Given the description of an element on the screen output the (x, y) to click on. 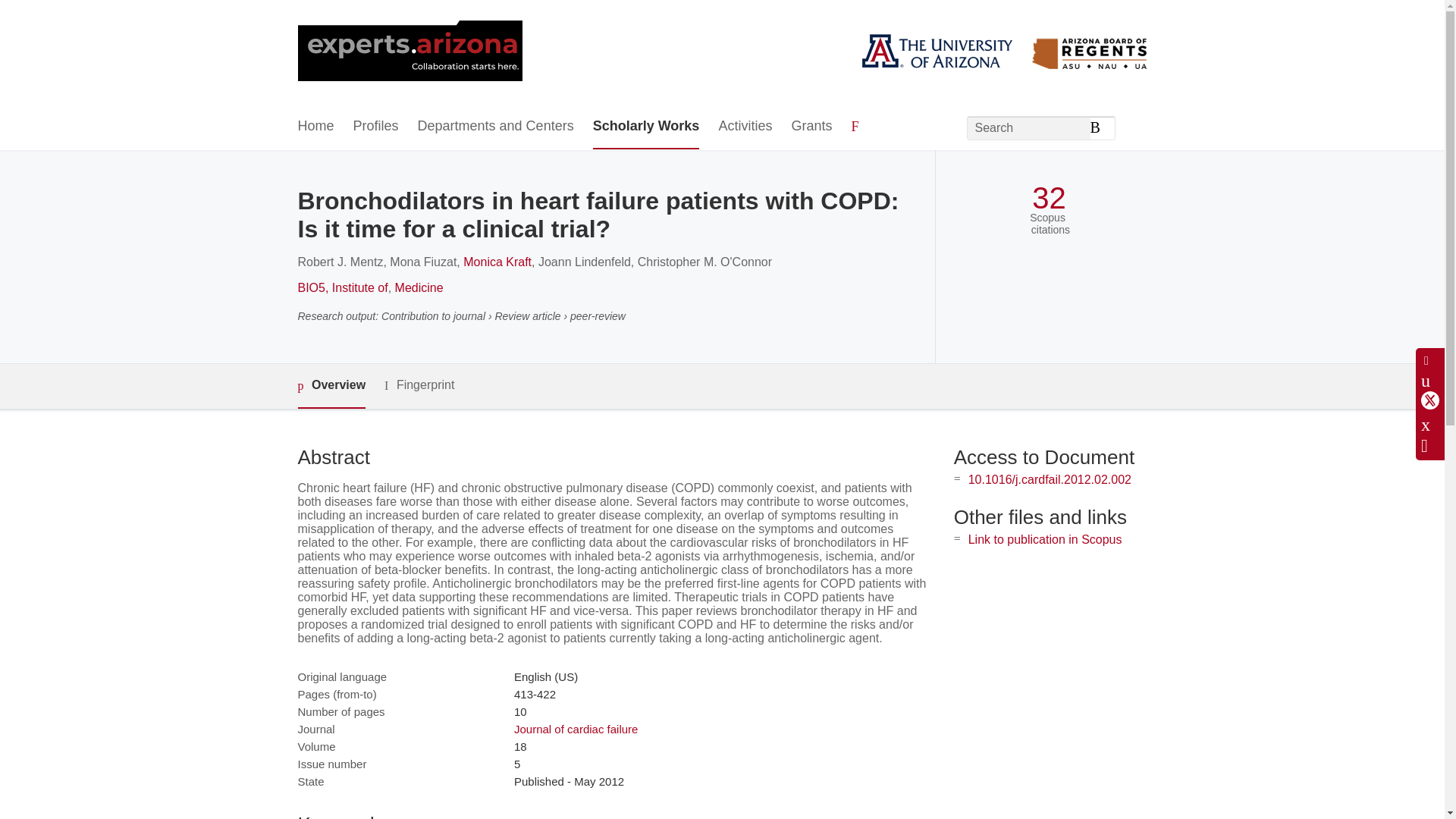
University of Arizona Home (409, 52)
Journal of cardiac failure (575, 728)
Monica Kraft (497, 261)
BIO5, Institute of (342, 287)
Activities (744, 126)
Overview (331, 385)
Medicine (419, 287)
Departments and Centers (495, 126)
Profiles (375, 126)
Link to publication in Scopus (1045, 539)
Grants (810, 126)
Scholarly Works (646, 126)
32 (1048, 198)
Fingerprint (419, 385)
